Given the description of an element on the screen output the (x, y) to click on. 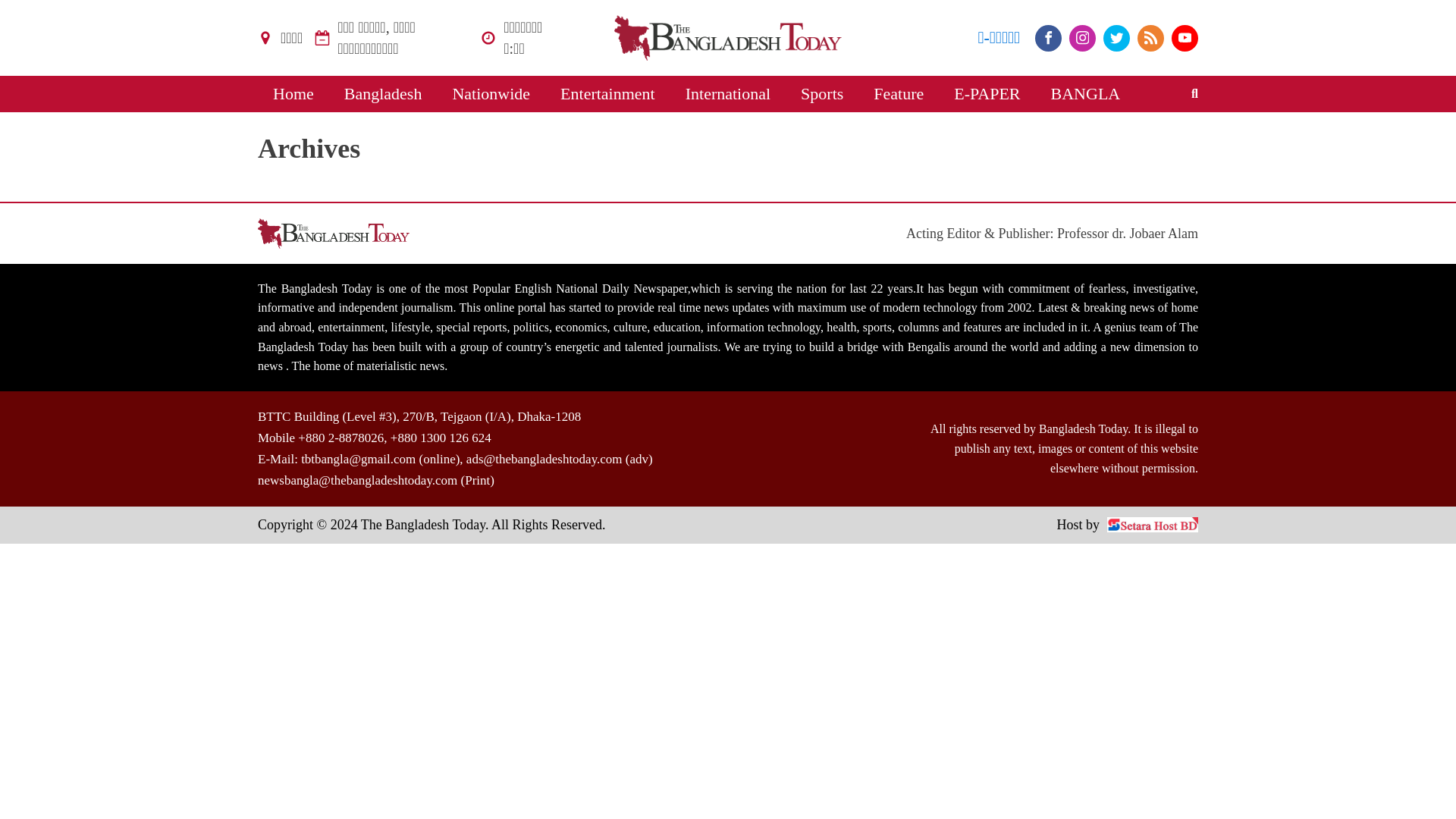
Nationwide (490, 94)
BANGLA (1085, 94)
Entertainment (606, 94)
E-PAPER (987, 94)
Bangladesh (383, 94)
Sports (822, 94)
International (727, 94)
Feature (899, 94)
Home (293, 94)
